Given the description of an element on the screen output the (x, y) to click on. 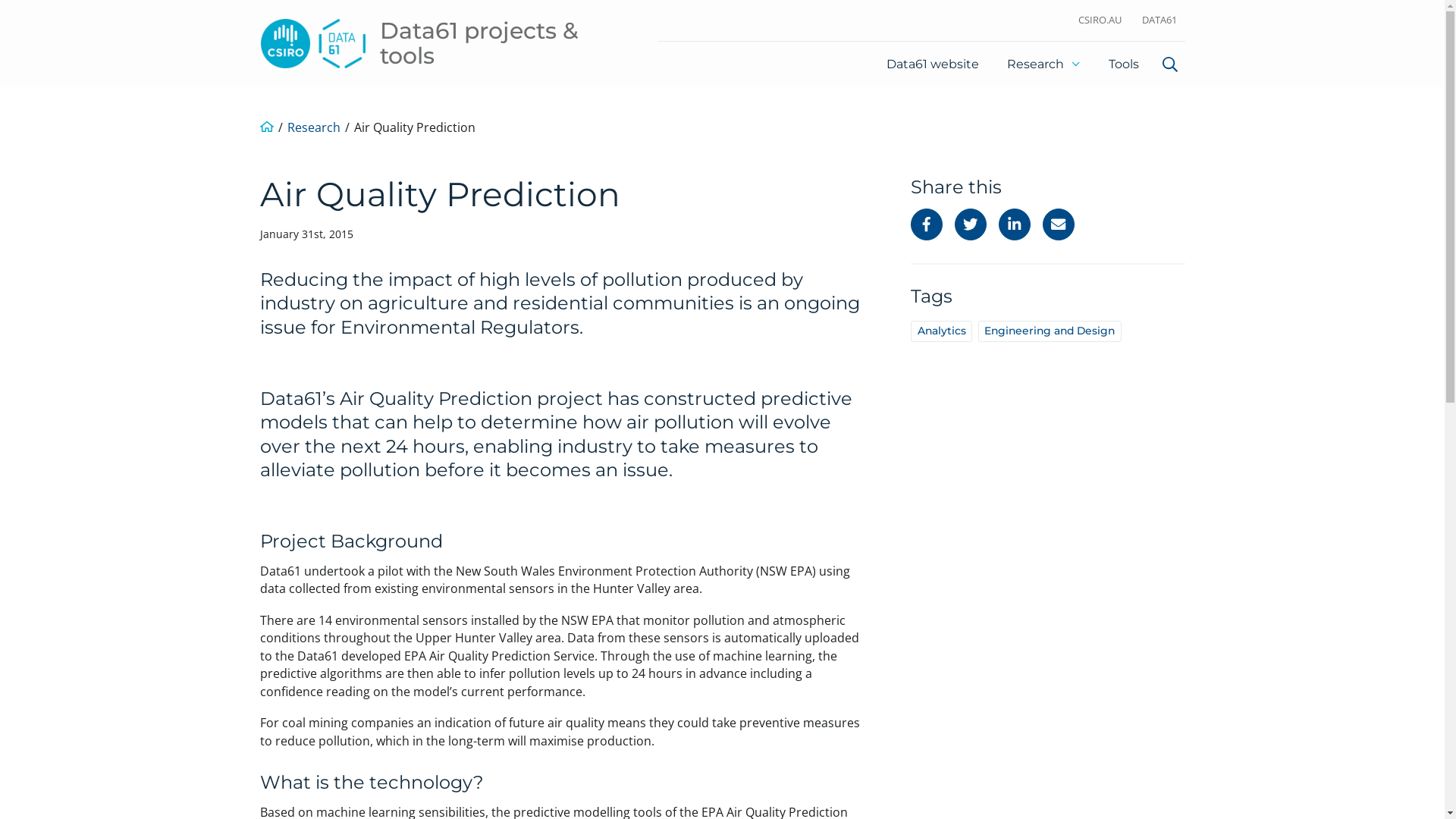
Tools Element type: text (1123, 64)
Research Element type: text (1043, 64)
Research Element type: text (312, 127)
Data61 projects & tools Element type: text (441, 42)
Analytics Element type: text (941, 331)
Data61 website Element type: text (932, 64)
Engineering and Design Element type: text (1049, 331)
DATA61 Element type: text (1158, 20)
CSIRO.AU Element type: text (1099, 20)
